Given the description of an element on the screen output the (x, y) to click on. 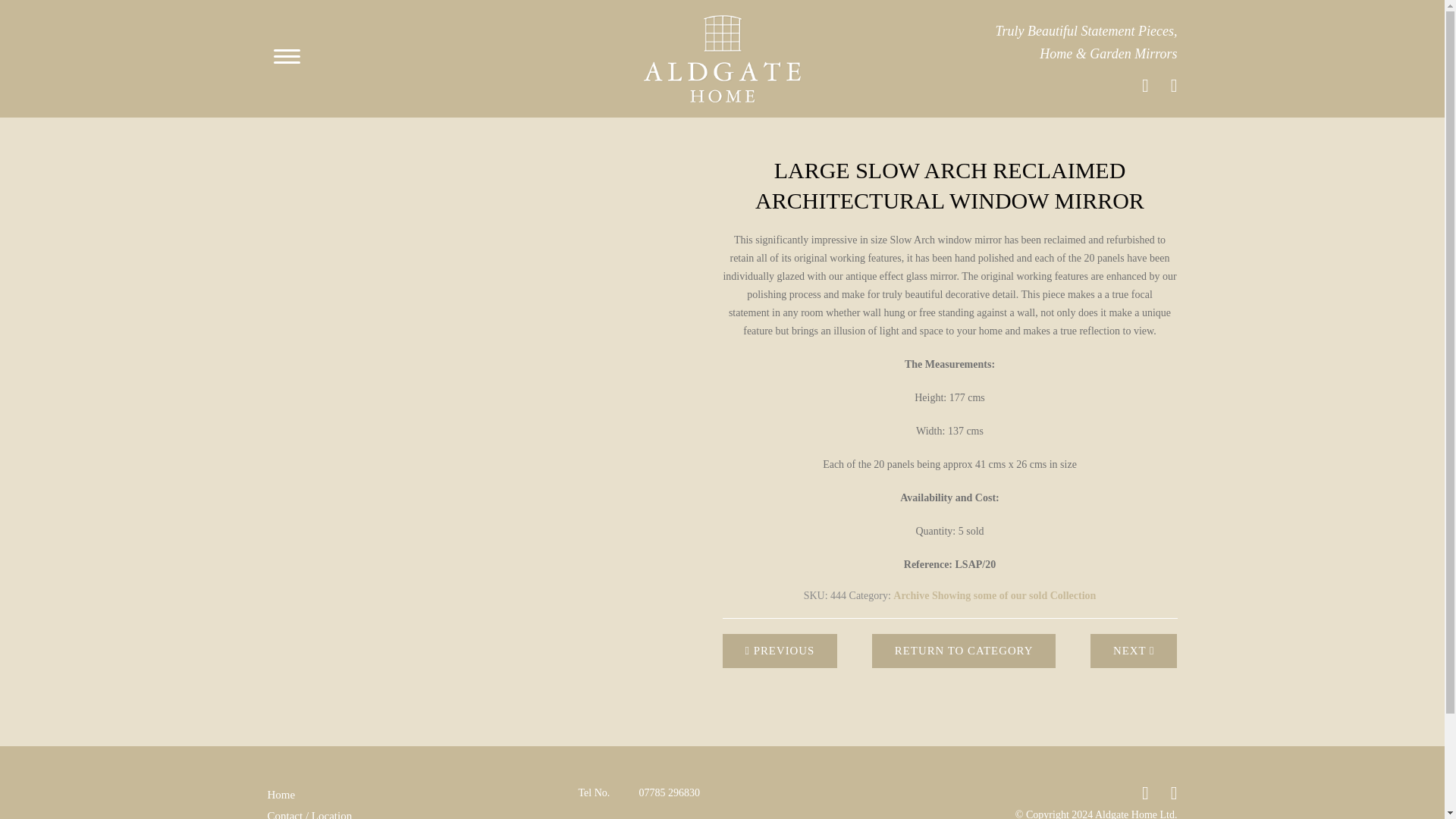
Aldgate Home Ltd (721, 58)
NEXT (1133, 650)
RETURN TO CATEGORY (964, 650)
07785 296830 (669, 792)
Archive Showing some of our sold Collection (994, 595)
Home (280, 794)
PREVIOUS (779, 650)
